Given the description of an element on the screen output the (x, y) to click on. 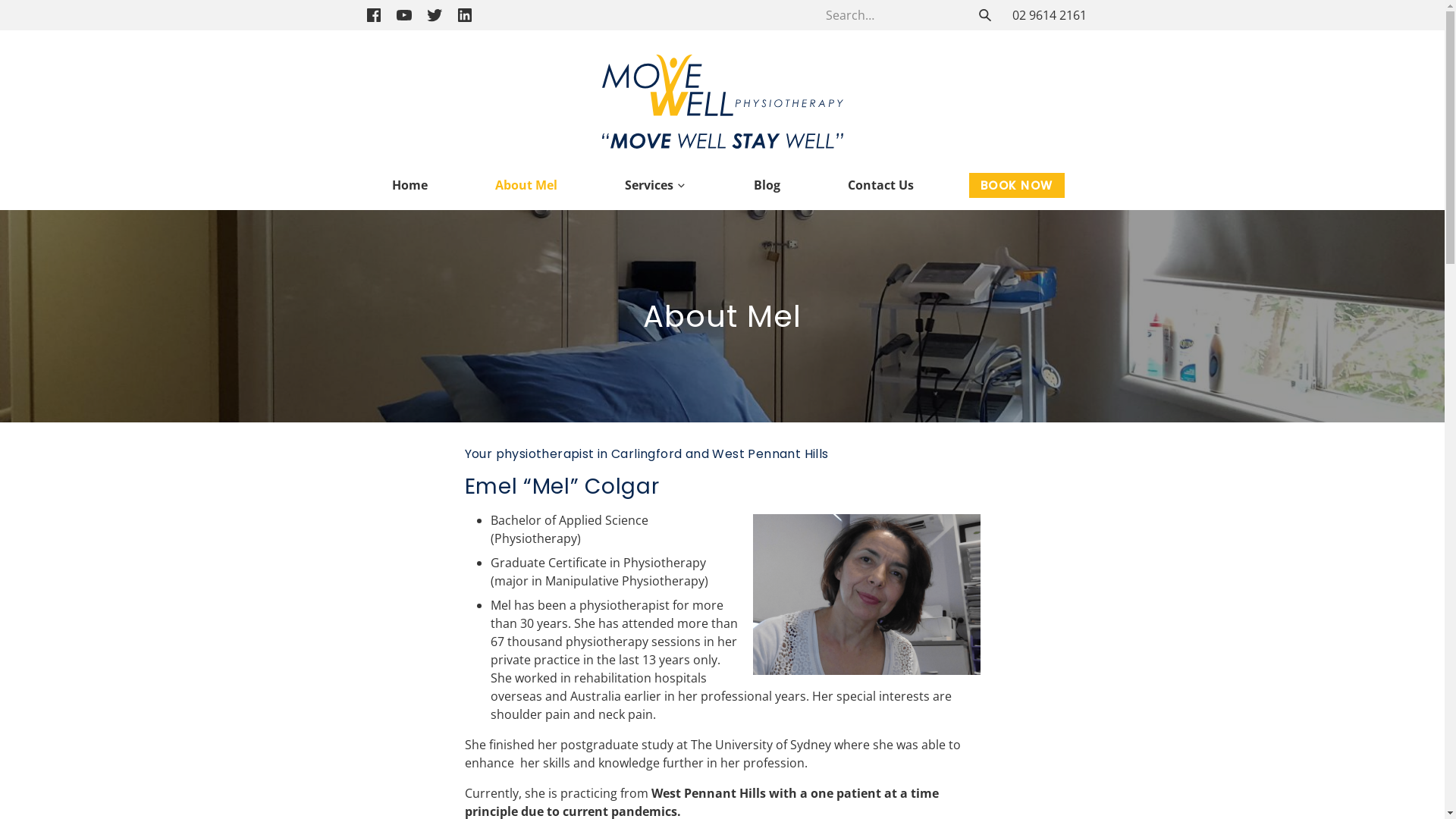
Blog Element type: text (766, 184)
BOOK NOW Element type: text (1016, 184)
02 9614 2161 Element type: text (1048, 15)
Search Element type: hover (984, 15)
Services Element type: text (654, 184)
Home Element type: text (409, 184)
About Mel Element type: text (526, 184)
Contact Us Element type: text (880, 184)
